Given the description of an element on the screen output the (x, y) to click on. 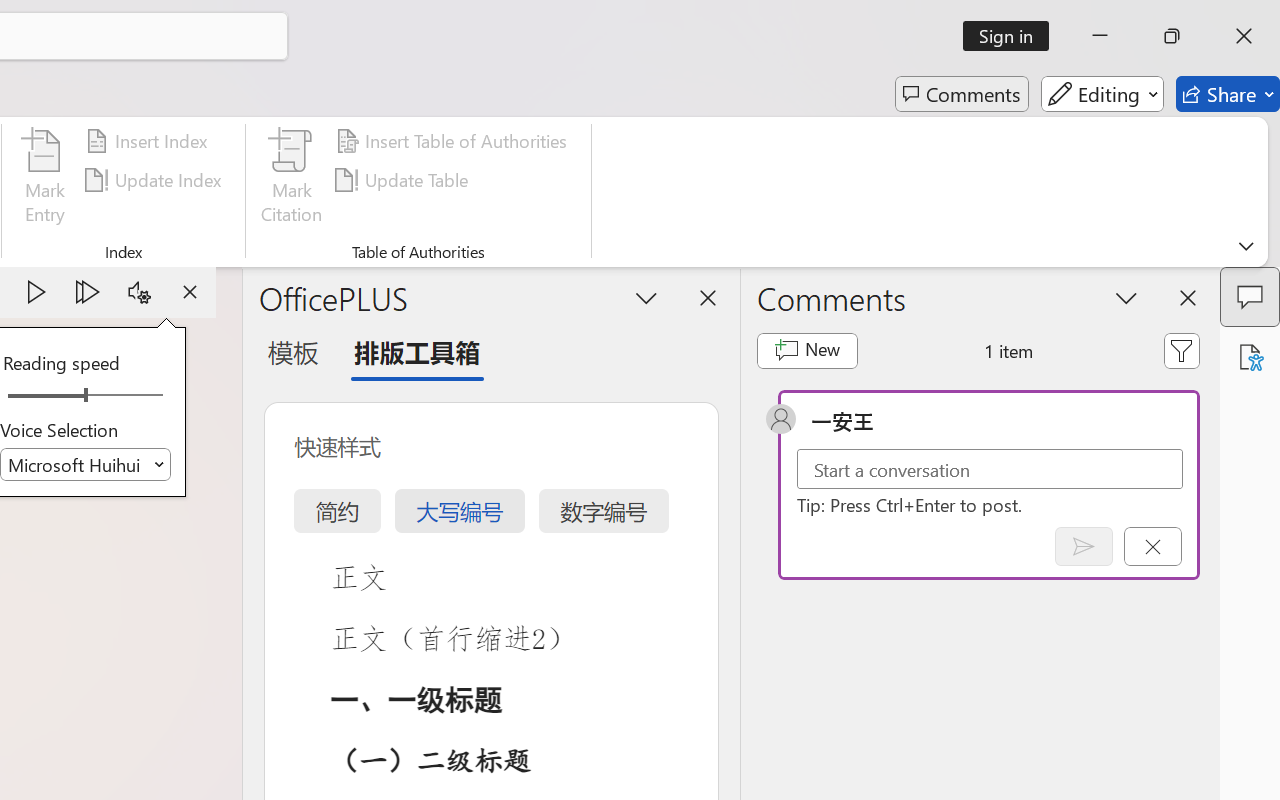
Mark Citation... (292, 179)
Update Index (156, 179)
New comment (806, 350)
Reading speed (85, 396)
Sign in (1012, 35)
